Given the description of an element on the screen output the (x, y) to click on. 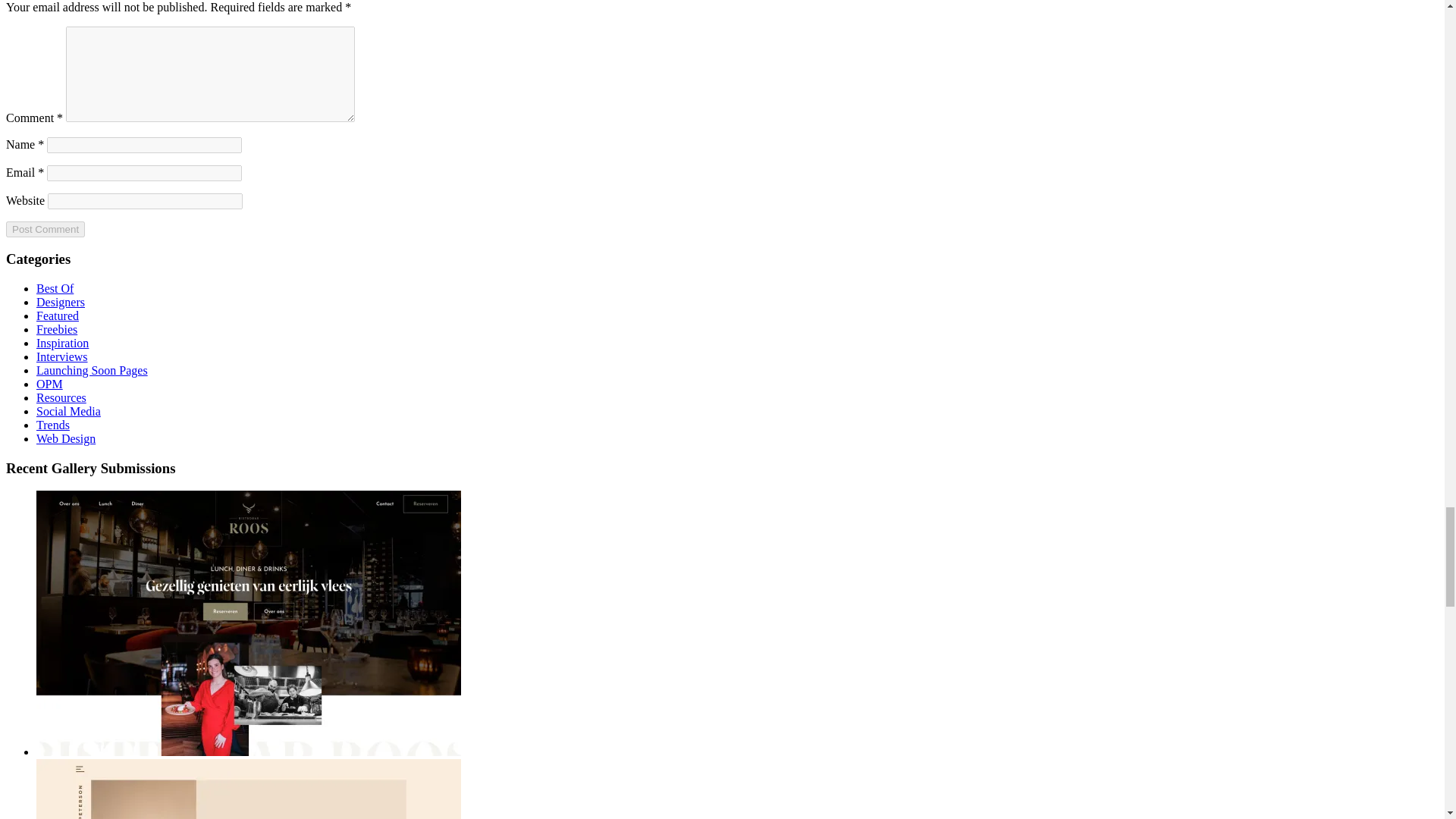
Post Comment (44, 229)
Bistrobar Roos (248, 751)
